Given the description of an element on the screen output the (x, y) to click on. 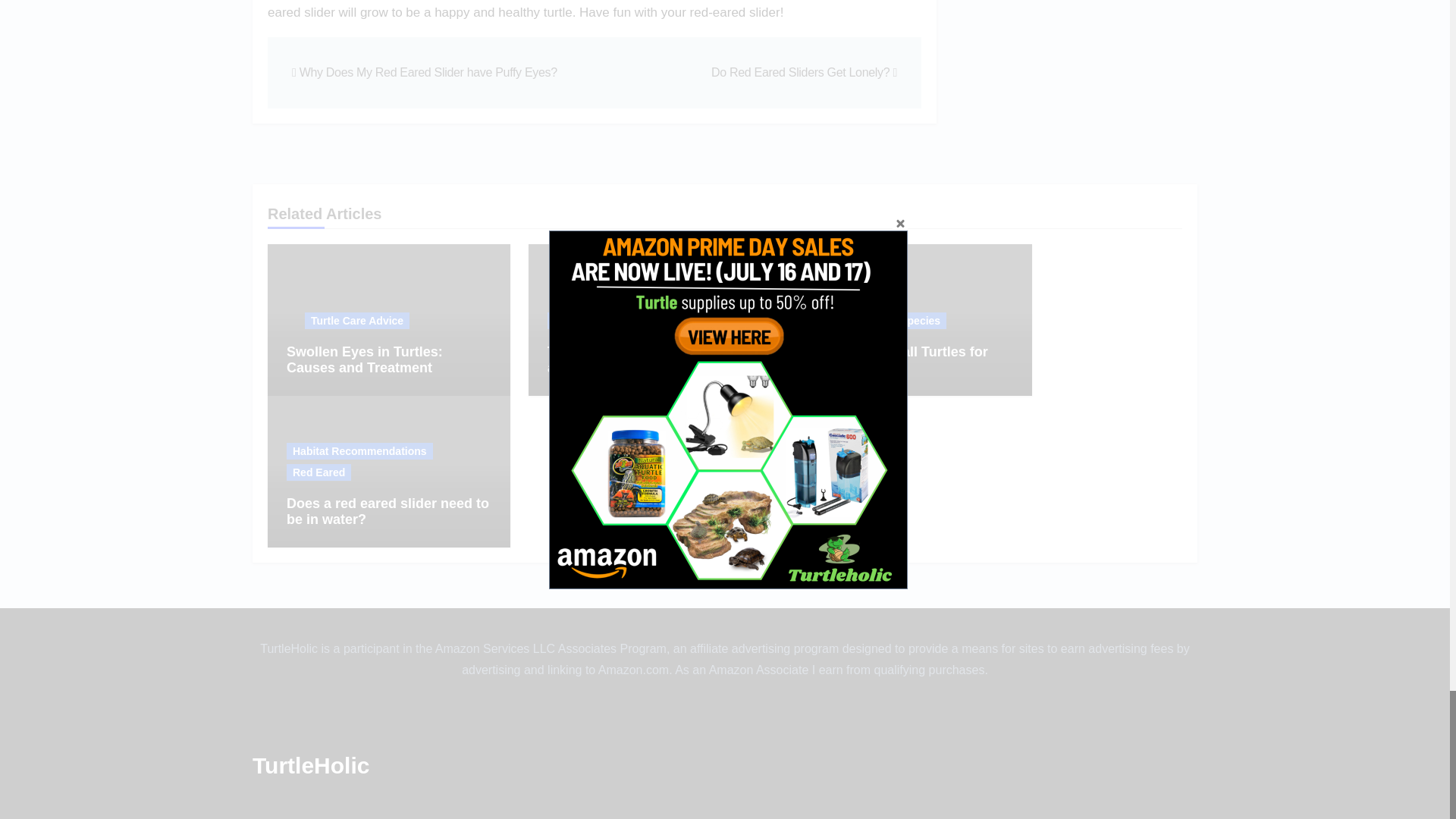
Permalink to: Does a red eared slider need to be in water? (387, 511)
Why Does My Red Eared Slider have Puffy Eyes? (424, 72)
Do Red Eared Sliders Get Lonely? (803, 72)
Permalink to: Swollen Eyes in Turtles: Causes and Treatment (364, 359)
Permalink to: The 5 Best Small Turtles for Beginners (898, 359)
Permalink to: Things to Know Before Buying a Turtle (646, 359)
